Given the description of an element on the screen output the (x, y) to click on. 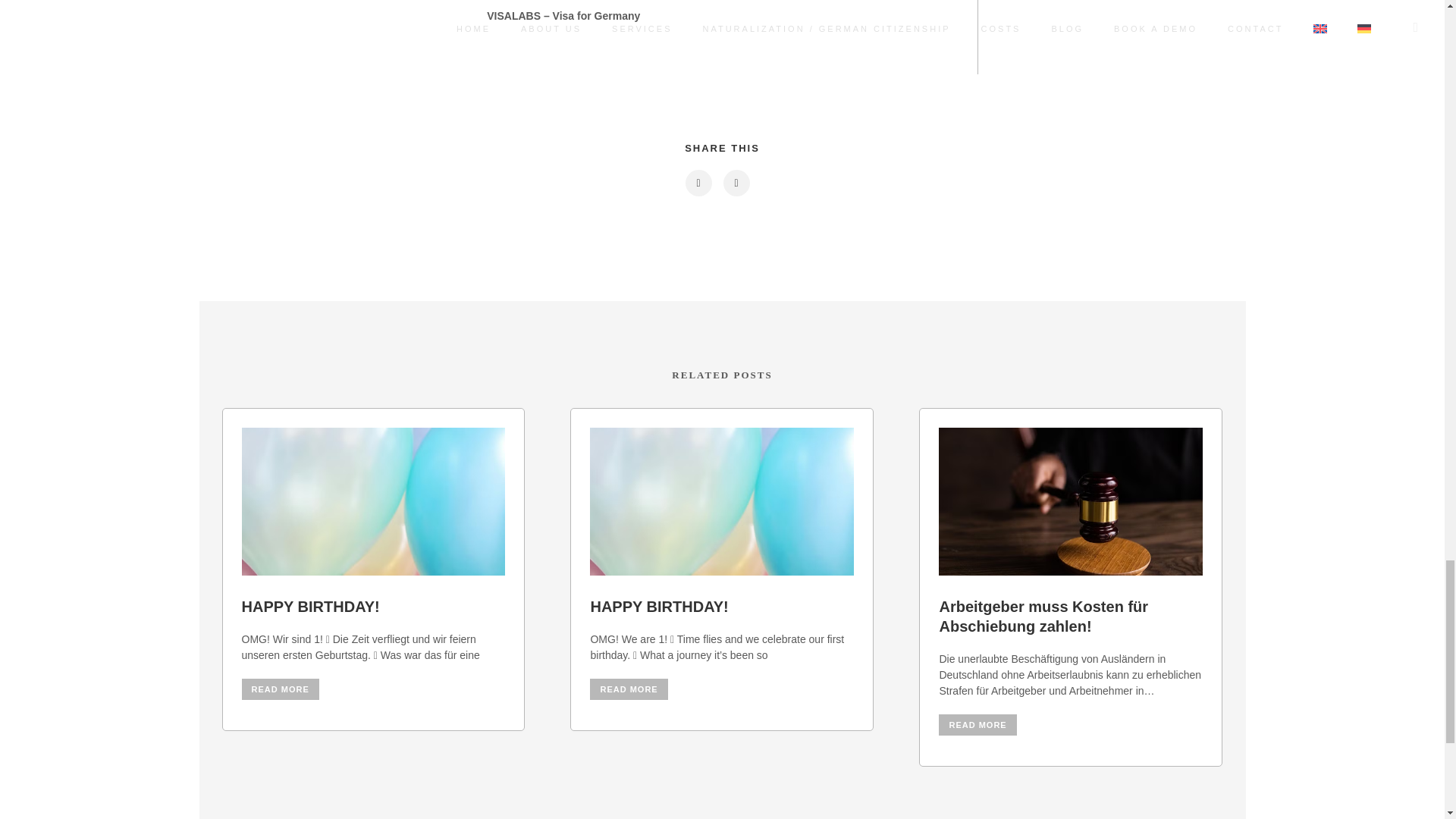
email (735, 182)
linkedin (697, 182)
